Given the description of an element on the screen output the (x, y) to click on. 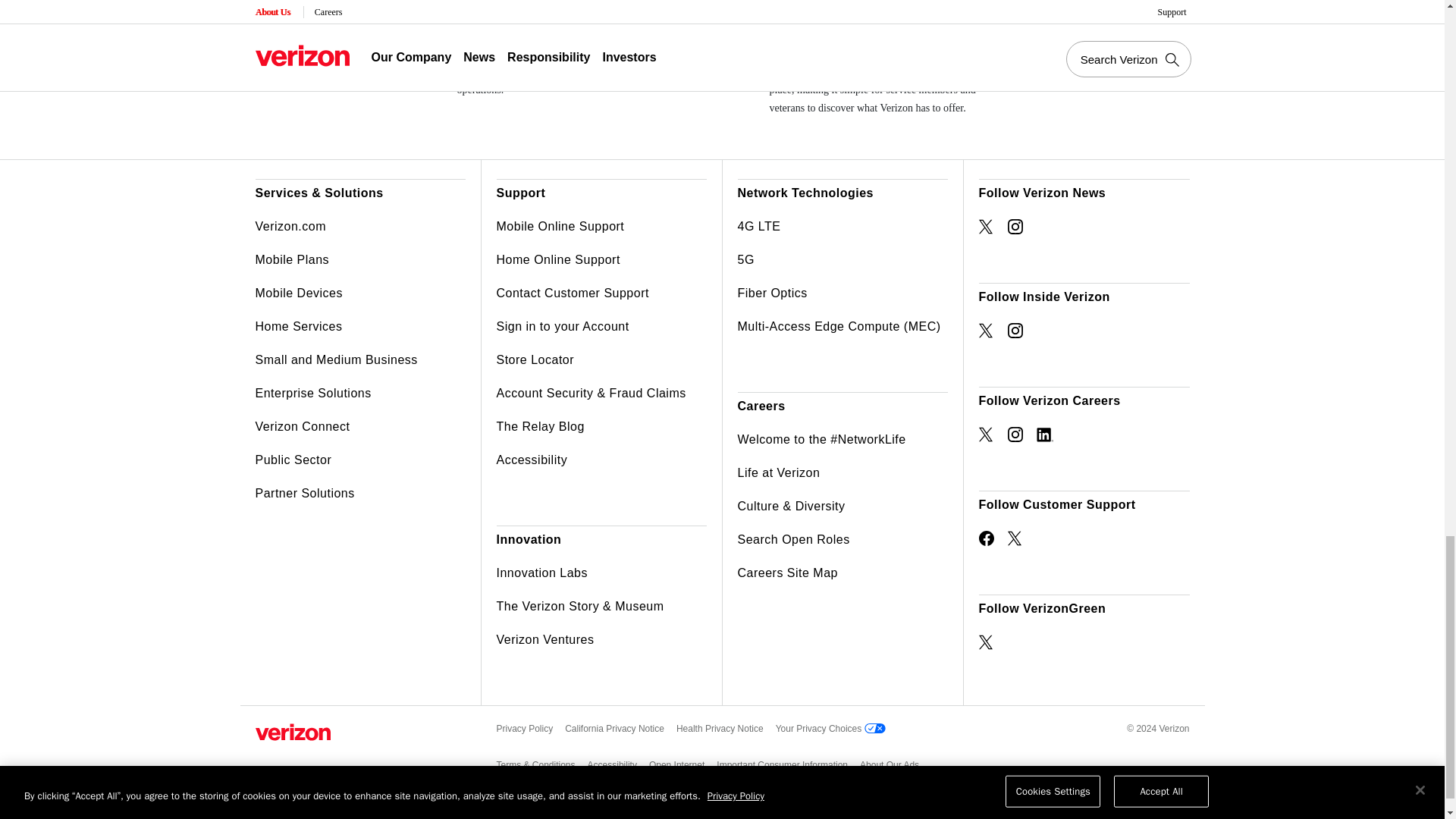
Opens New Window (1014, 330)
Opens New Window (1014, 538)
Verizon Home Page (292, 732)
Opens New Window (1014, 434)
Opens New Window (1043, 434)
Opens New Window (985, 330)
Opens New Window (985, 434)
Opens New Window (985, 642)
Opens New Window (1014, 226)
Opens New Window (985, 538)
Opens New Window (985, 226)
